Given the description of an element on the screen output the (x, y) to click on. 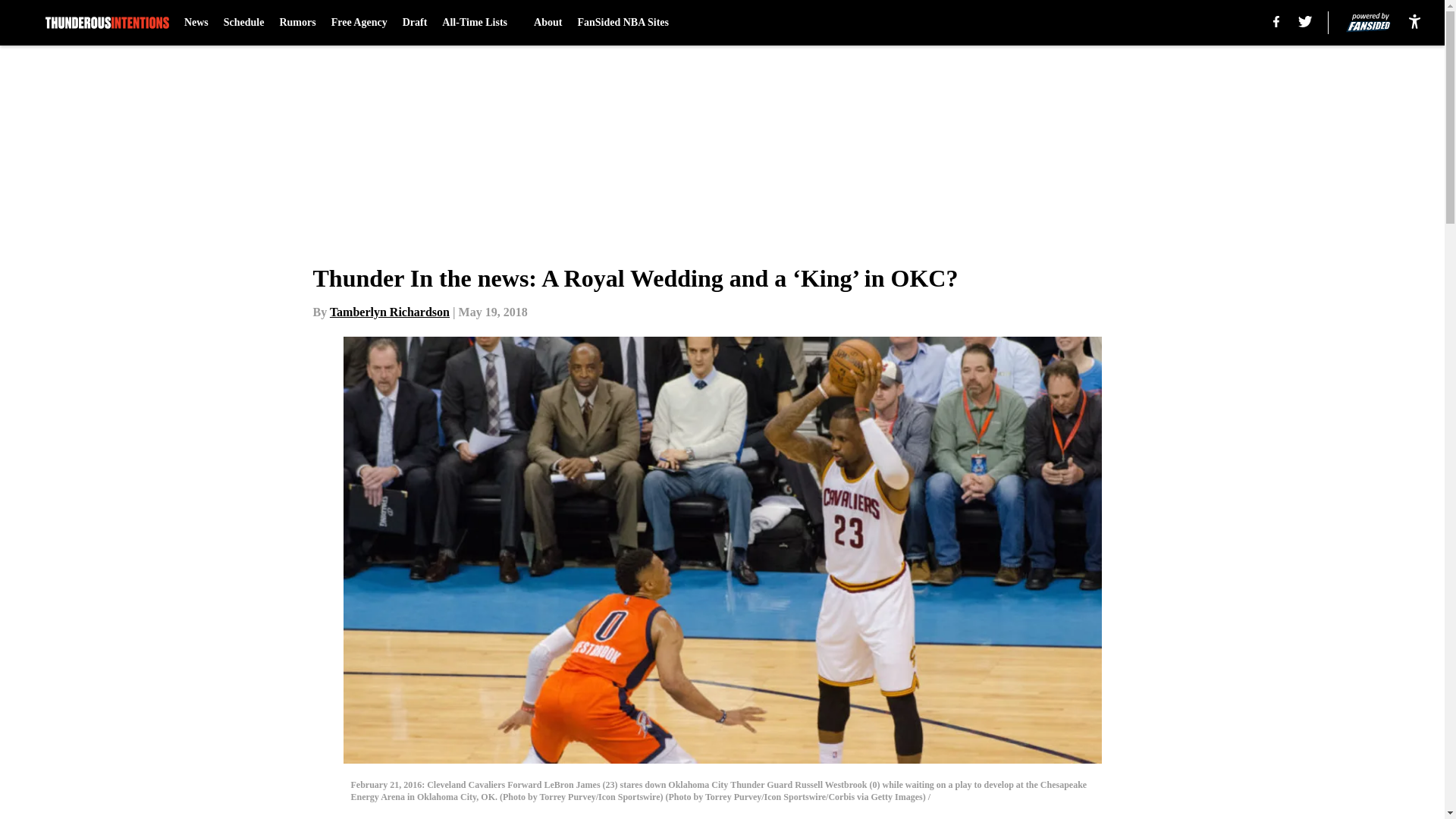
FanSided NBA Sites (622, 22)
Schedule (244, 22)
Free Agency (359, 22)
About (548, 22)
News (196, 22)
Rumors (297, 22)
Draft (415, 22)
All-Time Lists (480, 22)
Tamberlyn Richardson (389, 311)
